Given the description of an element on the screen output the (x, y) to click on. 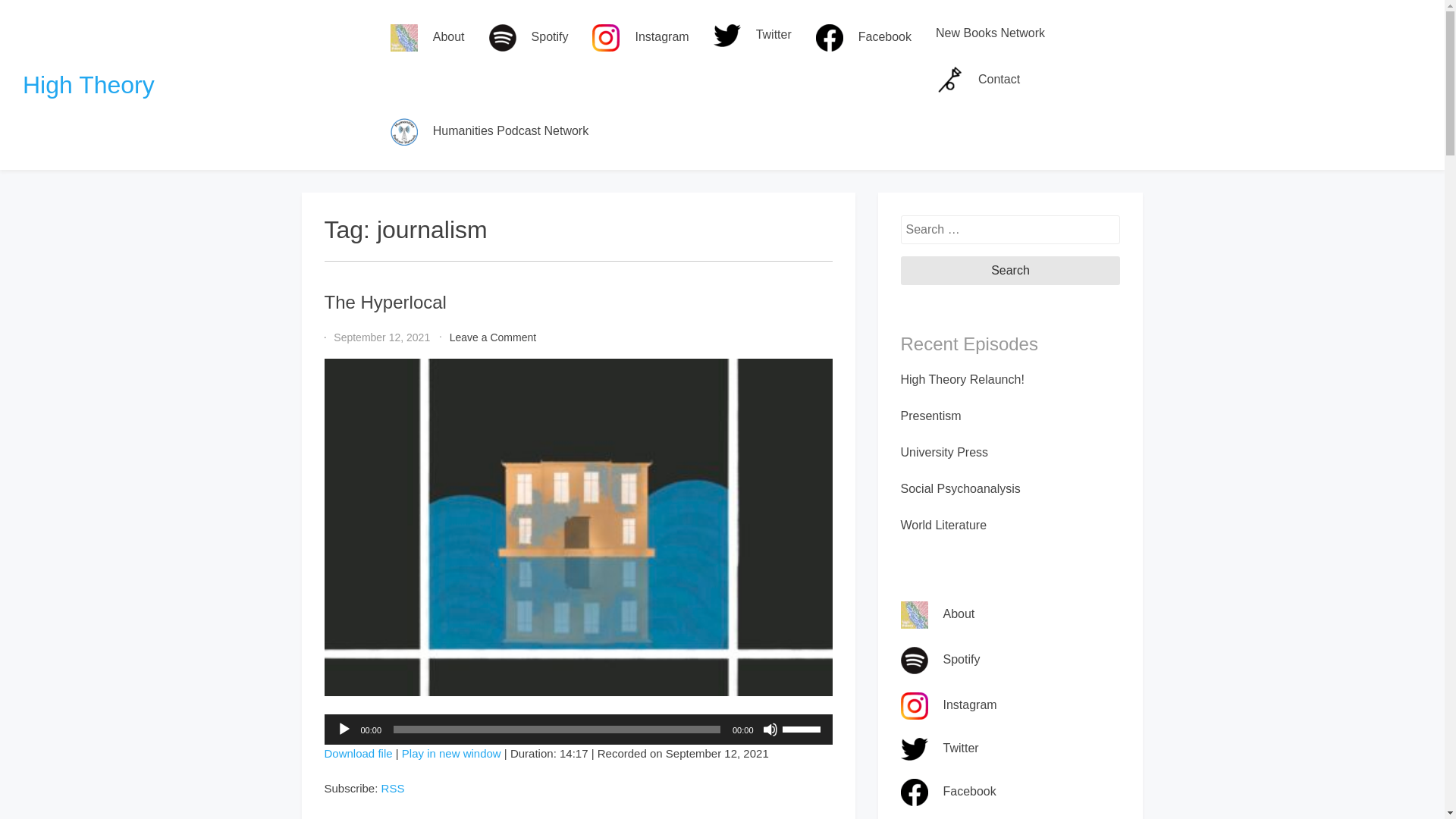
The Hyperlocal  (450, 753)
New Books Network (990, 33)
Twitter (752, 35)
Play in new window (492, 337)
High Theory (450, 753)
Download file (88, 84)
Spotify (358, 753)
Play (528, 37)
The Hyperlocal (344, 729)
The Hyperlocal  (385, 301)
Humanities Podcast Network (358, 753)
Search (488, 132)
About (1011, 270)
Facebook (427, 37)
